Given the description of an element on the screen output the (x, y) to click on. 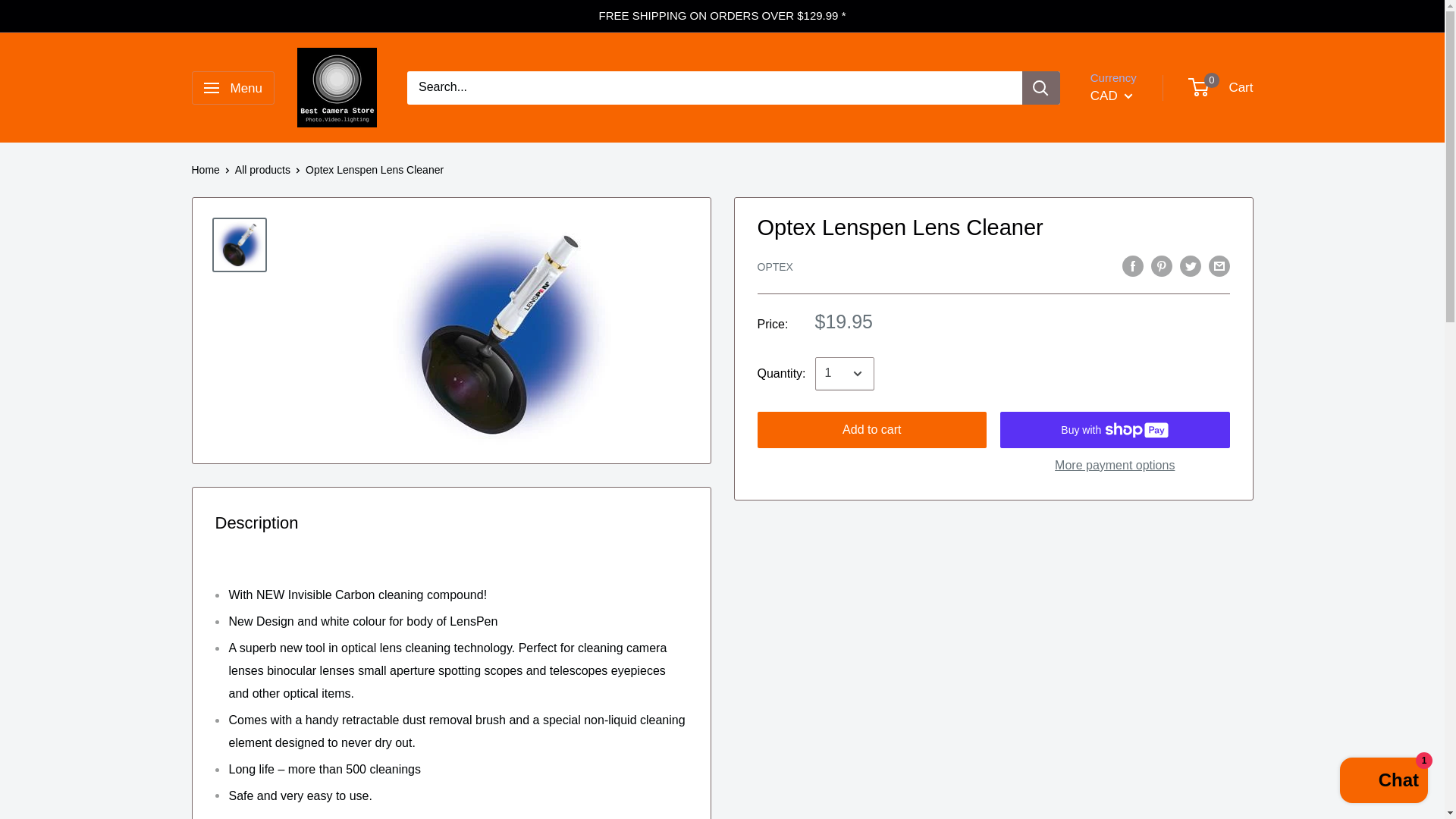
Shopify online store chat (1383, 781)
Menu (232, 87)
